Given the description of an element on the screen output the (x, y) to click on. 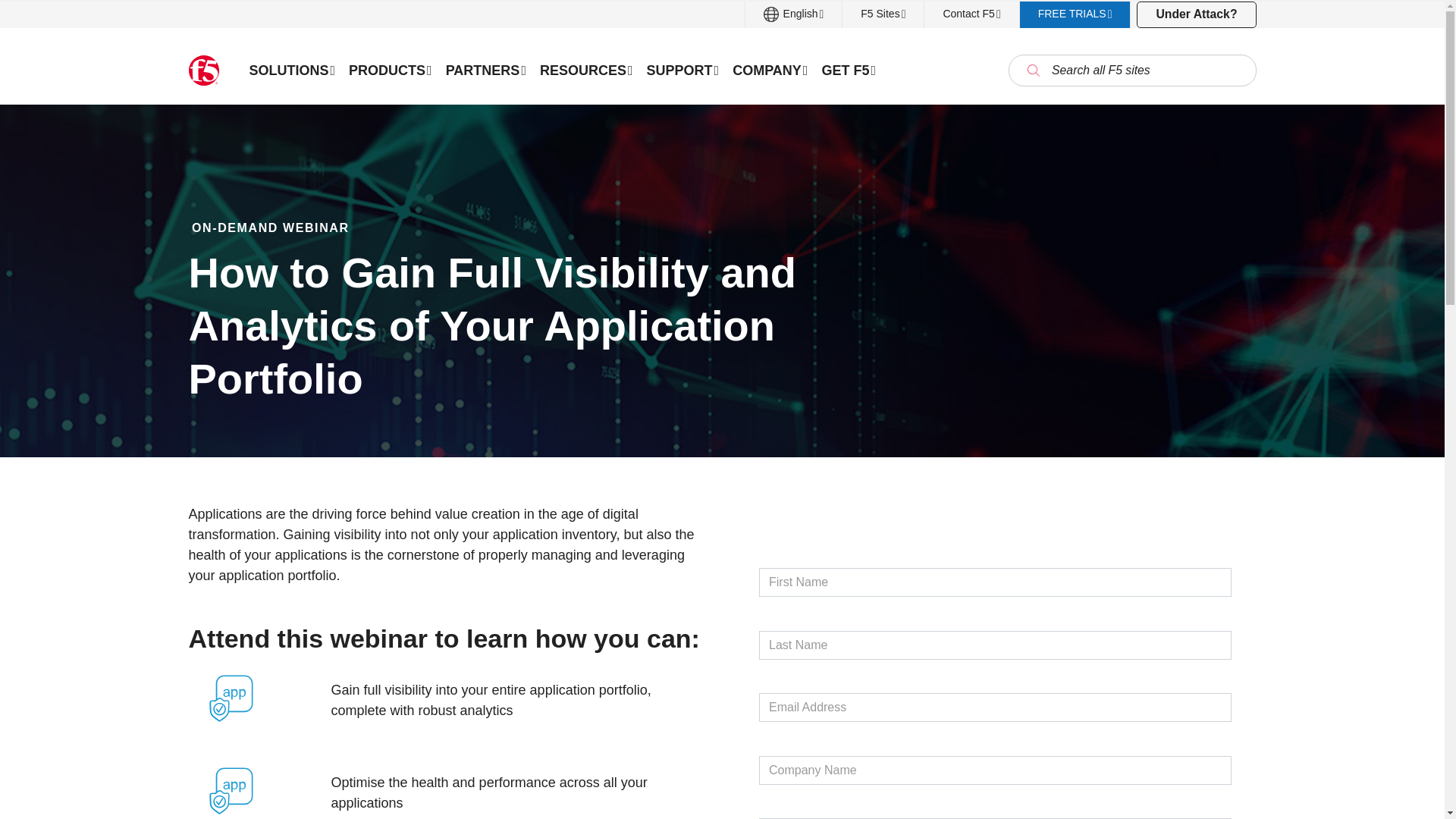
Under Attack? (1196, 14)
Company Name (994, 769)
PARTNERS (485, 69)
F5 (202, 70)
First Name (994, 582)
Email Address (994, 706)
PRODUCTS (390, 69)
FREE TRIALS (1075, 13)
RESOURCES (586, 69)
F5 Sites (883, 13)
Last Name (994, 645)
GET F5 (847, 69)
COMPANY (769, 69)
SUPPORT (683, 69)
